Given the description of an element on the screen output the (x, y) to click on. 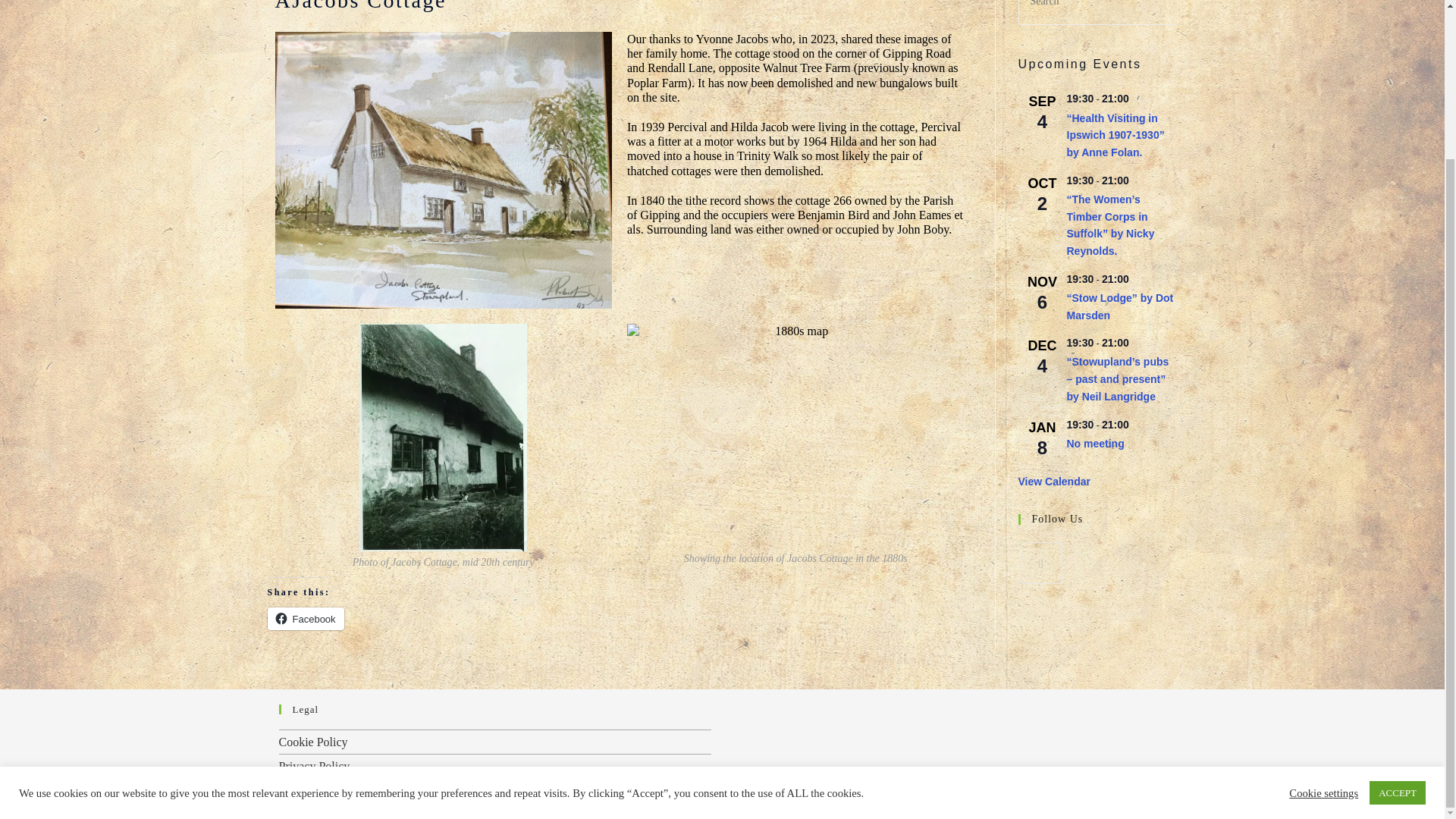
View more events. (1053, 481)
Click to share on Facebook (304, 618)
No meeting (1094, 443)
